Given the description of an element on the screen output the (x, y) to click on. 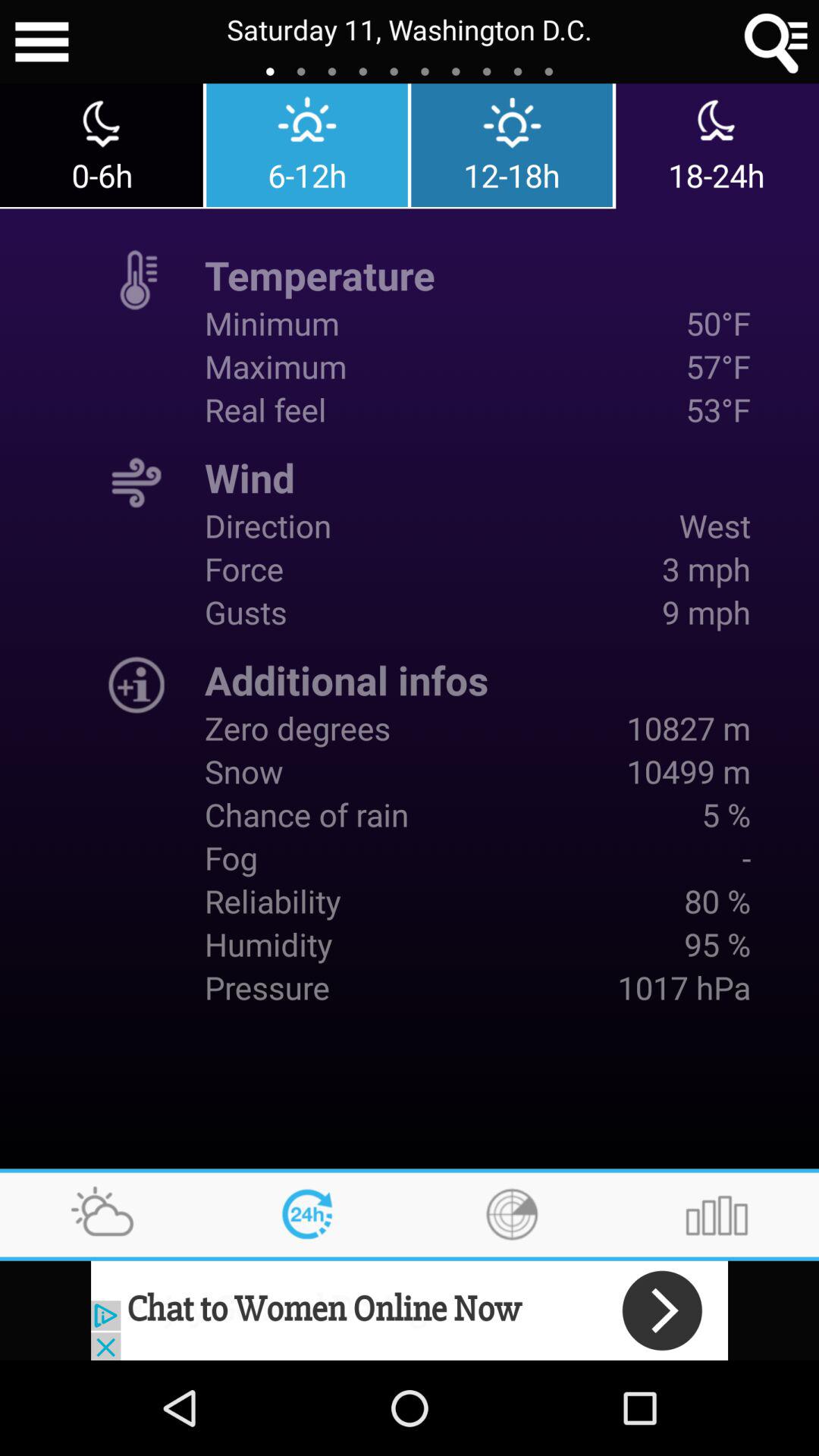
view advertisement (409, 1310)
